Given the description of an element on the screen output the (x, y) to click on. 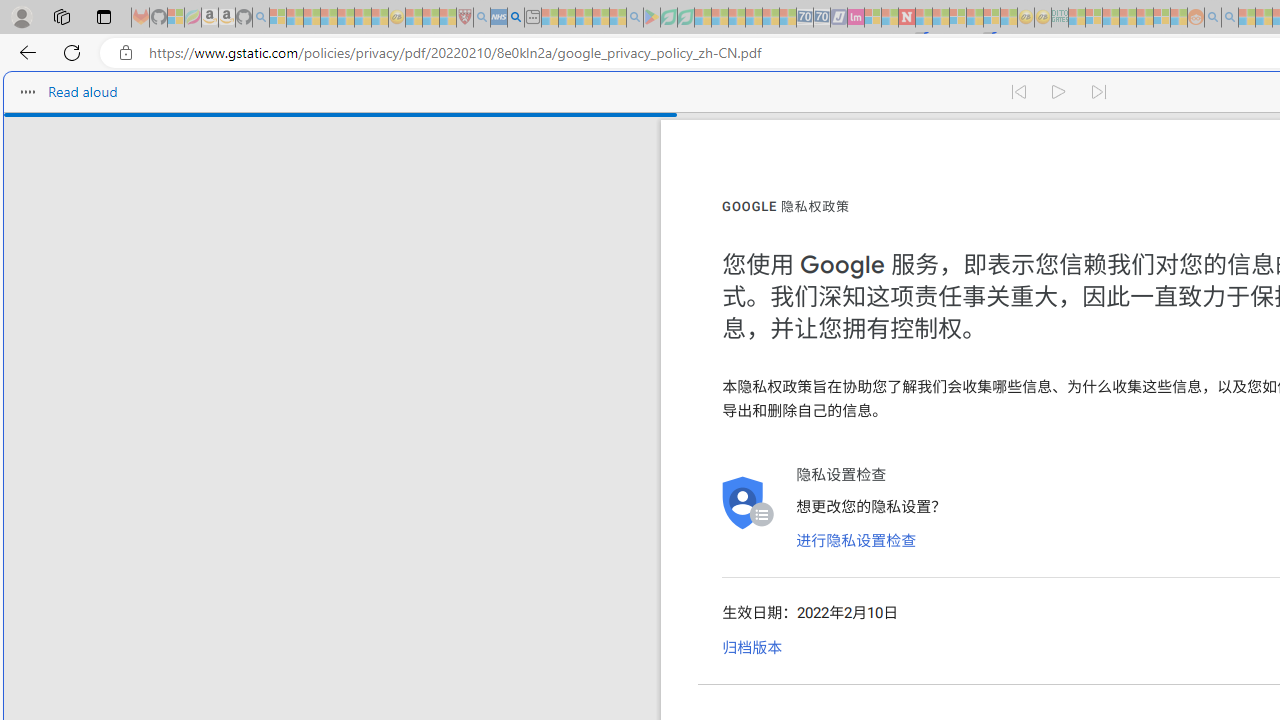
New tab - Sleeping (532, 17)
